Given the description of an element on the screen output the (x, y) to click on. 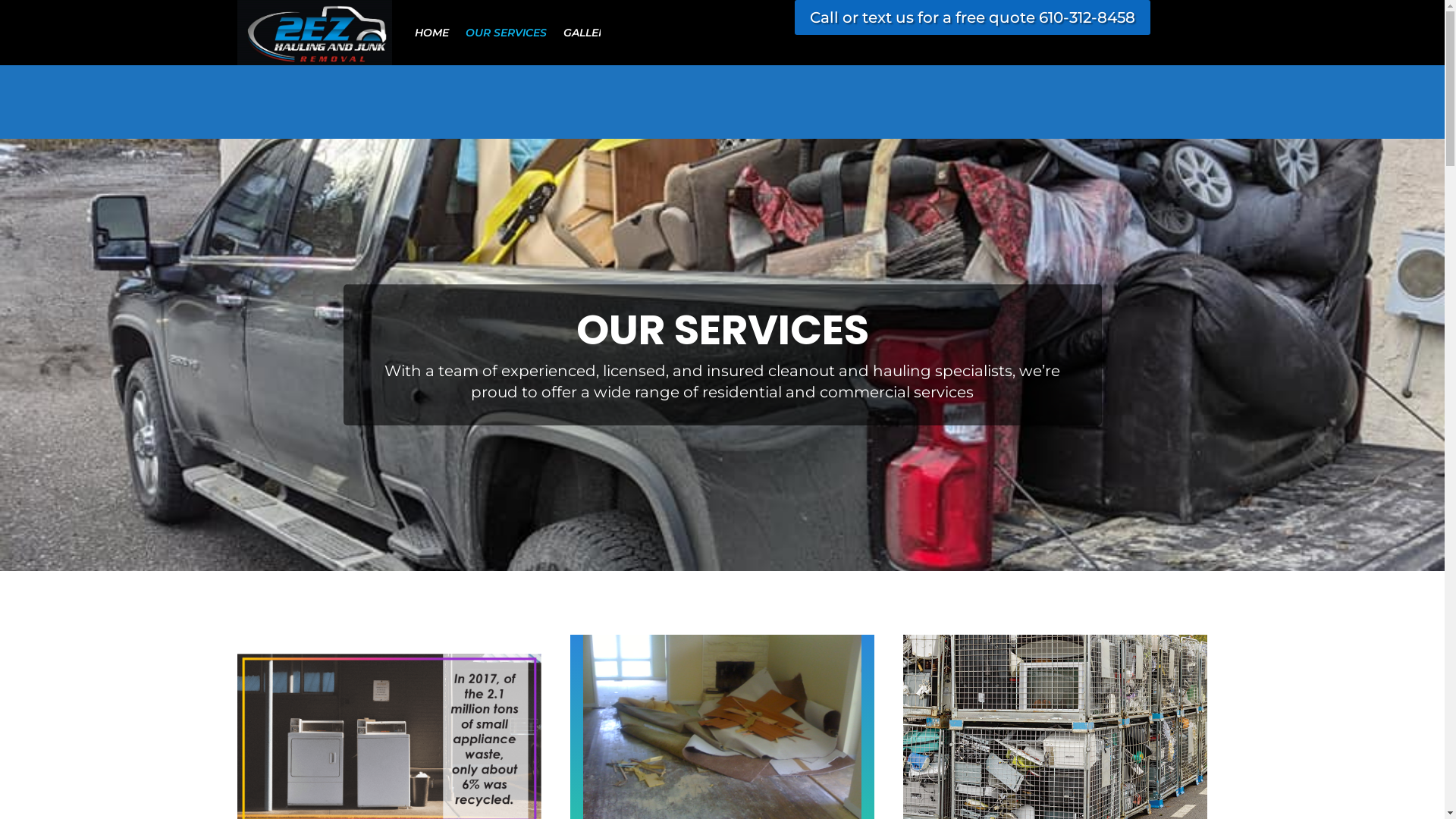
GALLERY Element type: text (587, 32)
Call or text us for a free quote 610-312-8458 Element type: text (972, 17)
JOIN 2EZ REWARDS LOYALTY PROGRAM Element type: text (738, 32)
HOME Element type: text (431, 32)
FOOTER Element type: text (978, 32)
OUR SERVICES Element type: text (505, 32)
ADA COMPLY Element type: text (901, 32)
